Given the description of an element on the screen output the (x, y) to click on. 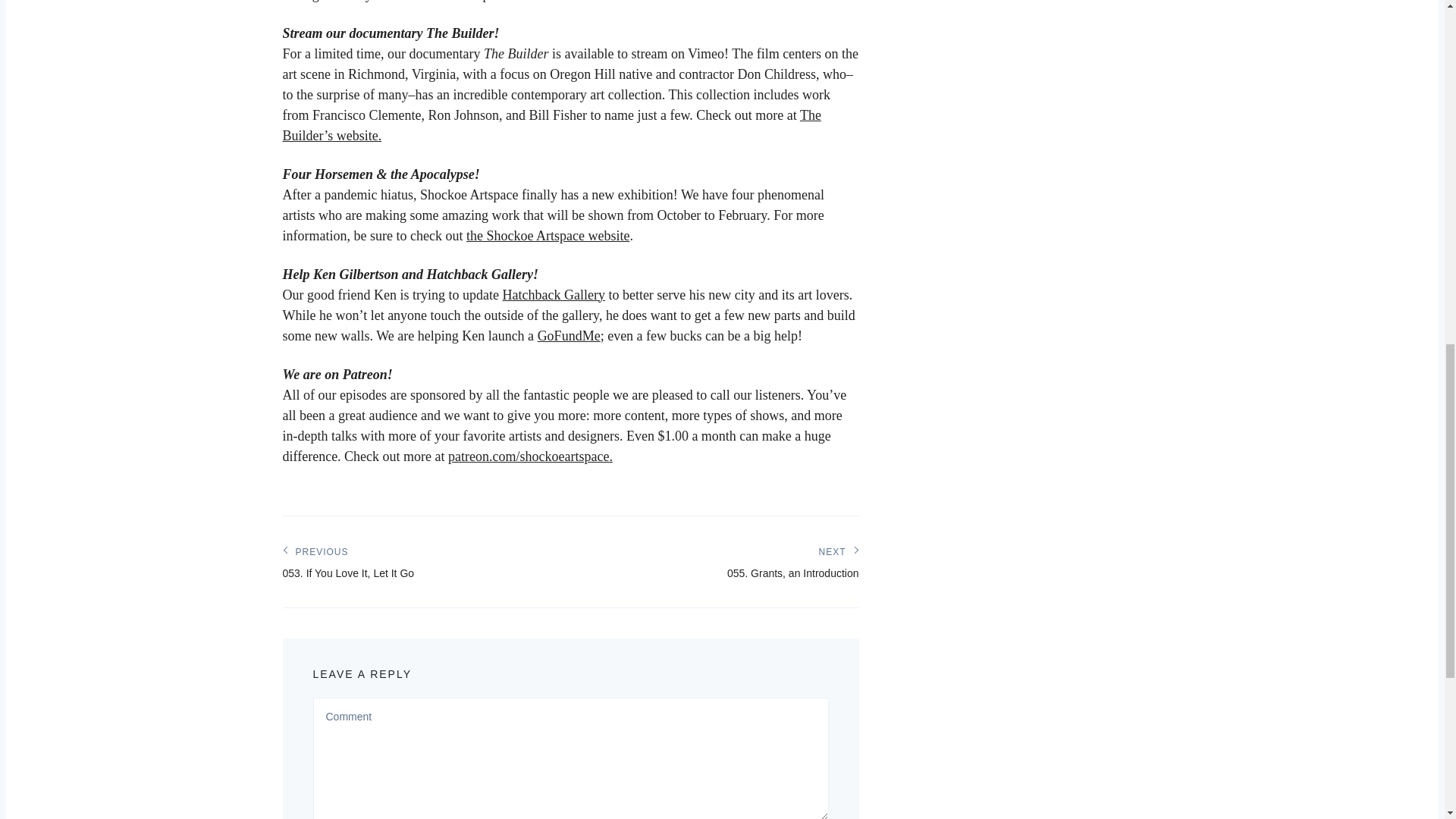
Hatchback Gallery (347, 559)
the Shockoe Artspace website (792, 559)
GoFundMe (553, 294)
